Given the description of an element on the screen output the (x, y) to click on. 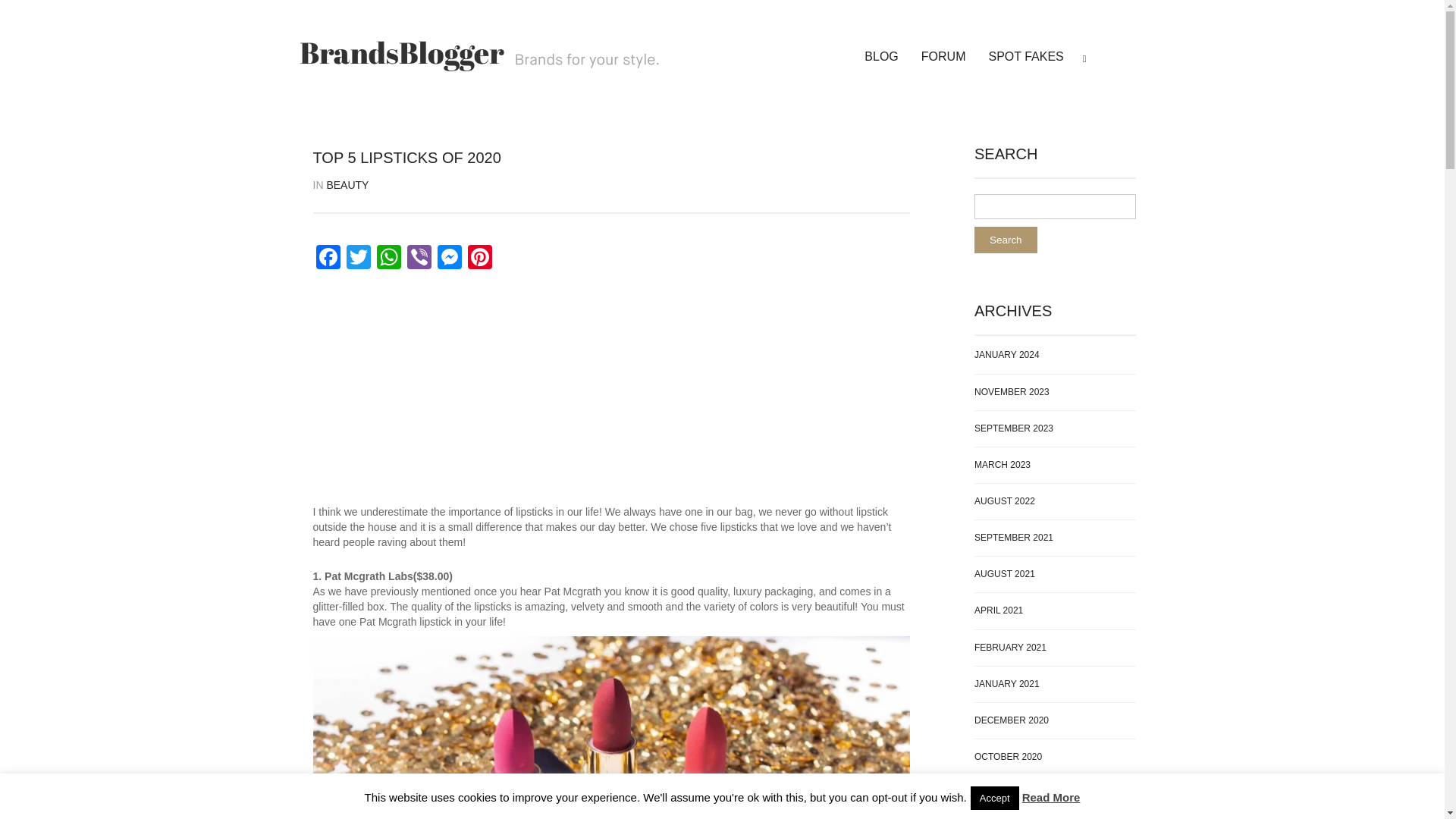
Search (1005, 239)
SEPTEMBER 2023 (1013, 428)
NOVEMBER 2023 (1011, 391)
Facebook (327, 258)
Viber (418, 258)
SEPTEMBER 2021 (1013, 537)
WhatsApp (387, 258)
Facebook (327, 258)
Messenger (448, 258)
AUGUST 2021 (1004, 574)
Pinterest (479, 258)
Search (1005, 239)
AUGUST 2022 (1004, 501)
Pinterest (479, 258)
MARCH 2023 (1002, 464)
